Given the description of an element on the screen output the (x, y) to click on. 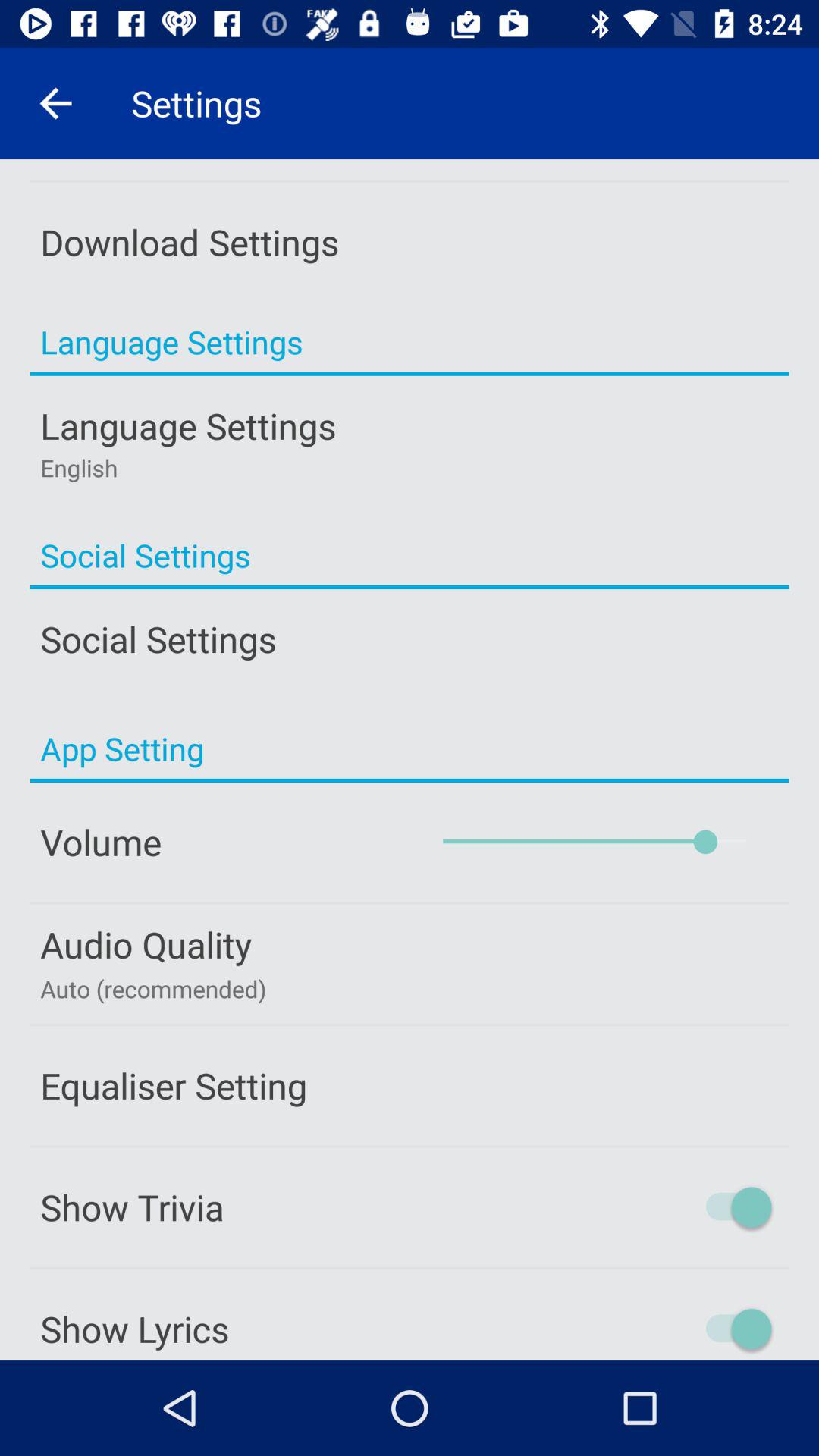
show trivia on (673, 1207)
